Given the description of an element on the screen output the (x, y) to click on. 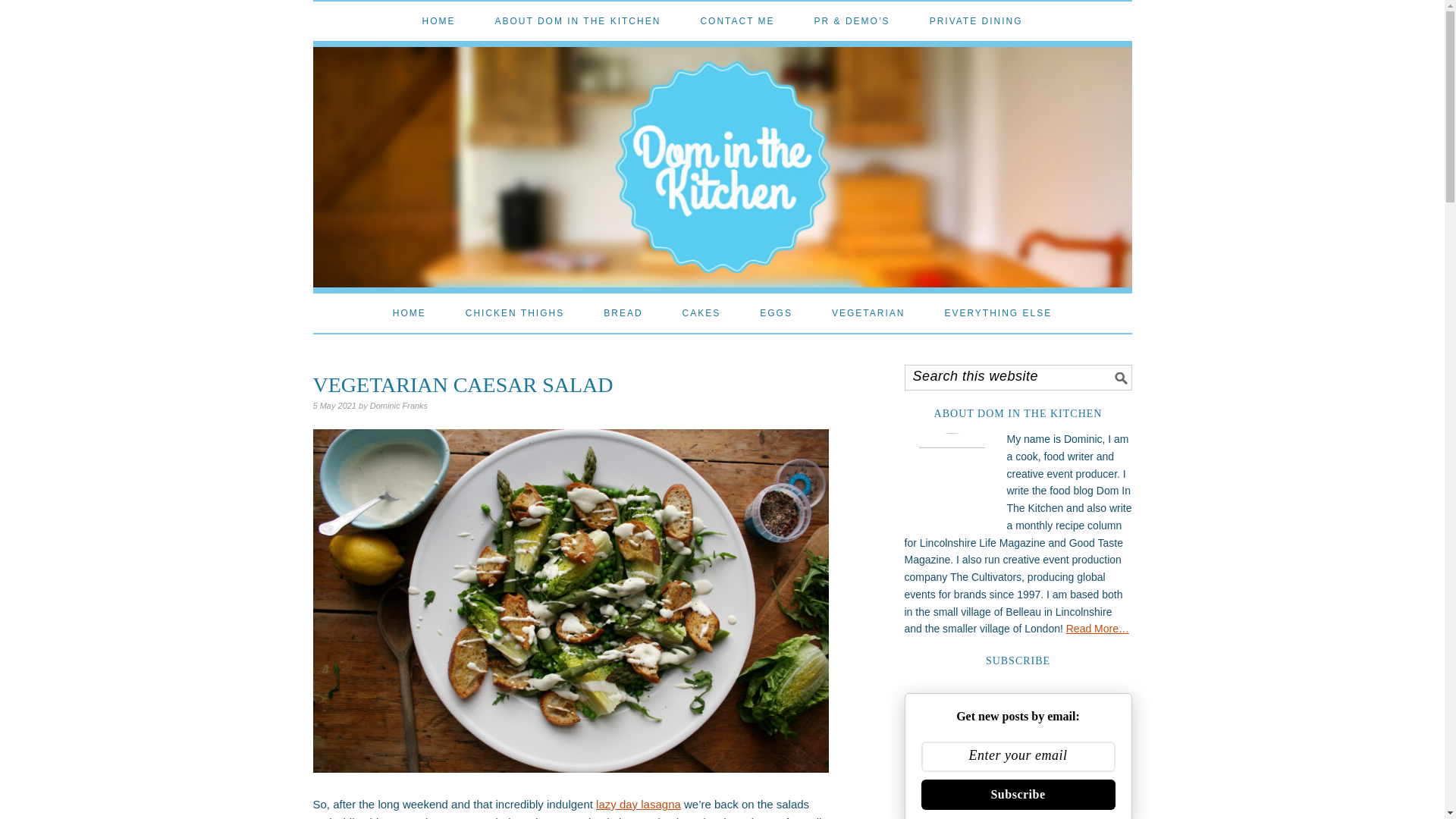
HOME (438, 20)
VEGETARIAN (867, 312)
CAKES (701, 312)
PRIVATE DINING (976, 20)
Subscribe (1017, 794)
lazy day lasagna (638, 803)
HOME (409, 312)
Dominic Franks (398, 405)
CHICKEN THIGHS (514, 312)
EVERYTHING ELSE (997, 312)
BREAD (623, 312)
CONTACT ME (737, 20)
